Given the description of an element on the screen output the (x, y) to click on. 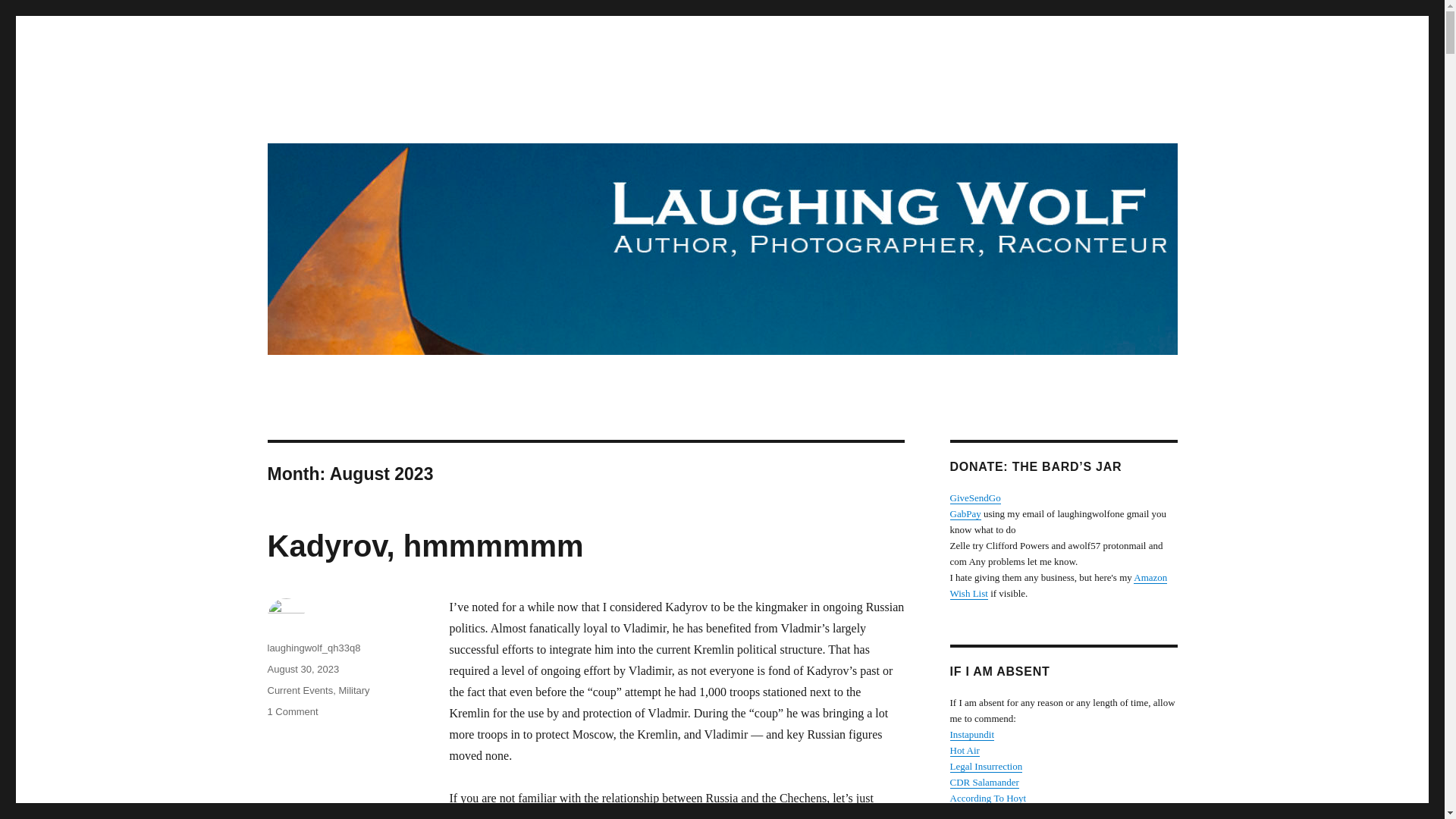
Kadyrov, hmmmmmm (424, 545)
The Laughing Wolf (361, 114)
Military (353, 690)
August 30, 2023 (302, 668)
Current Events (291, 711)
